Given the description of an element on the screen output the (x, y) to click on. 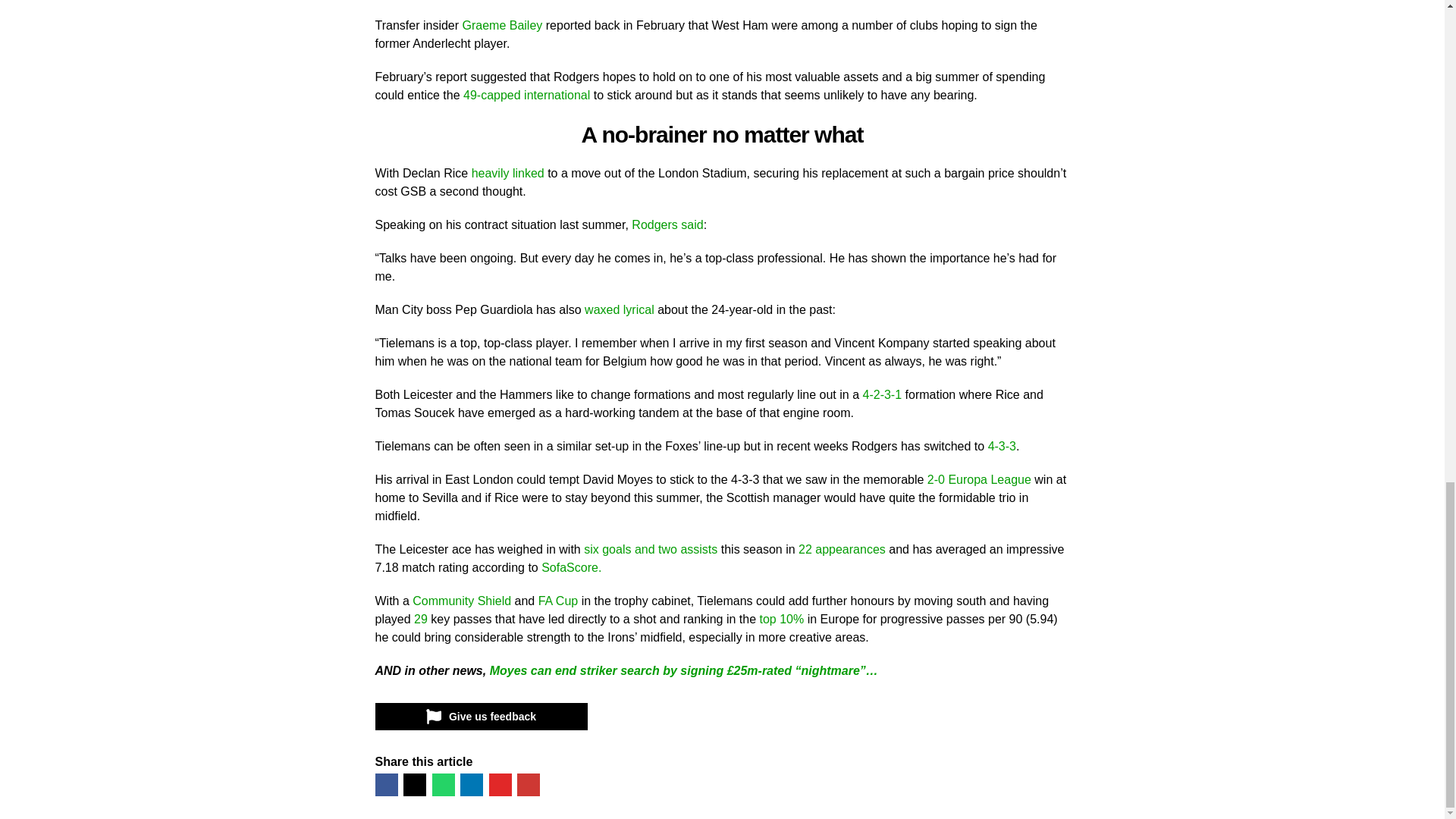
4-2-3-1 (884, 394)
4-3-3 (1002, 445)
Rodgers said (667, 224)
2-0 Europa League (978, 479)
49-capped international (526, 94)
six goals and two assists (650, 549)
waxed lyrical (619, 309)
Graeme Bailey (503, 24)
heavily linked (507, 173)
